Given the description of an element on the screen output the (x, y) to click on. 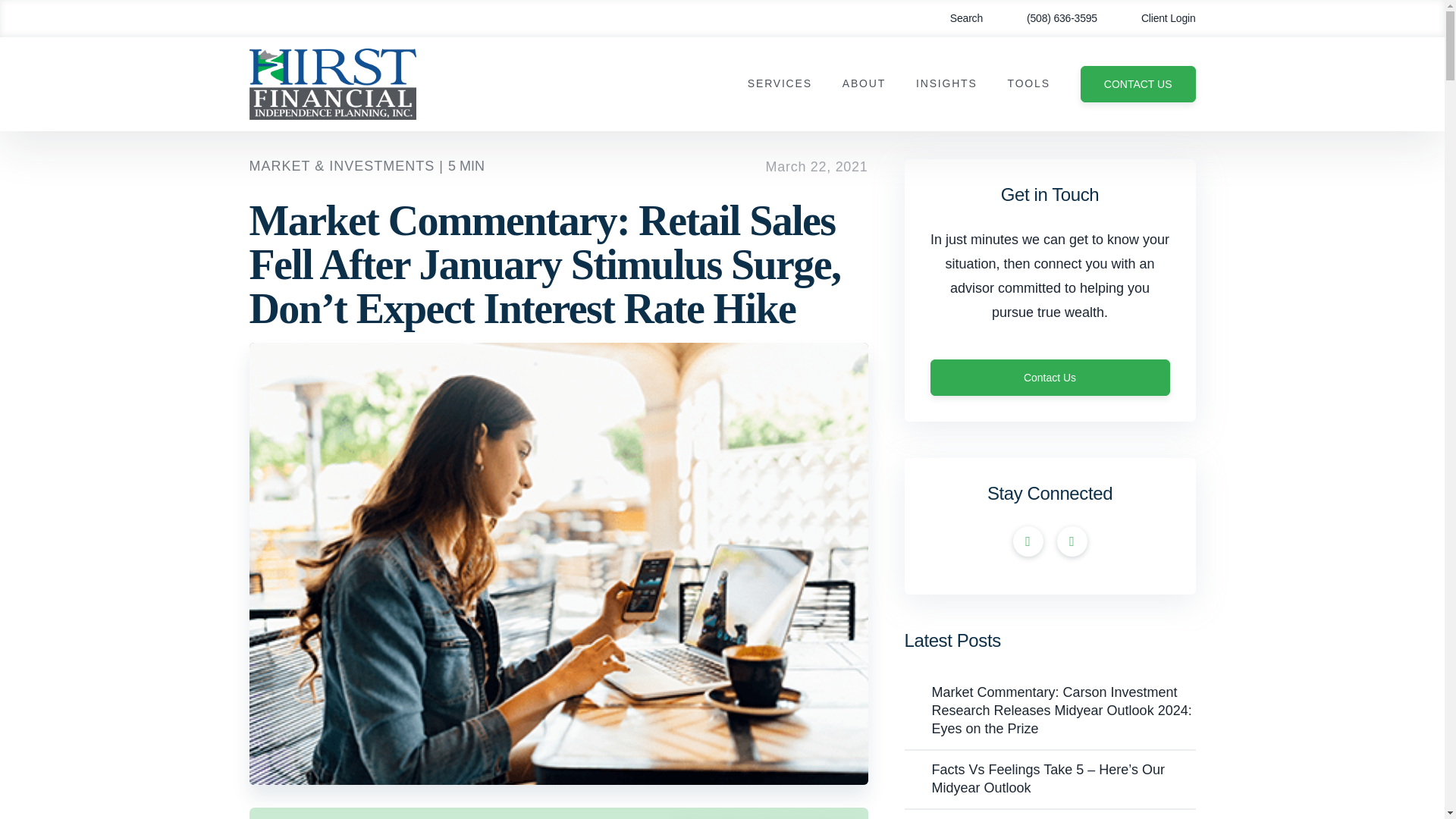
CONTACT US (1137, 84)
Search (955, 18)
TOOLS (1028, 83)
INSIGHTS (945, 83)
SERVICES (780, 83)
ABOUT (864, 83)
Client Login (1157, 18)
